Given the description of an element on the screen output the (x, y) to click on. 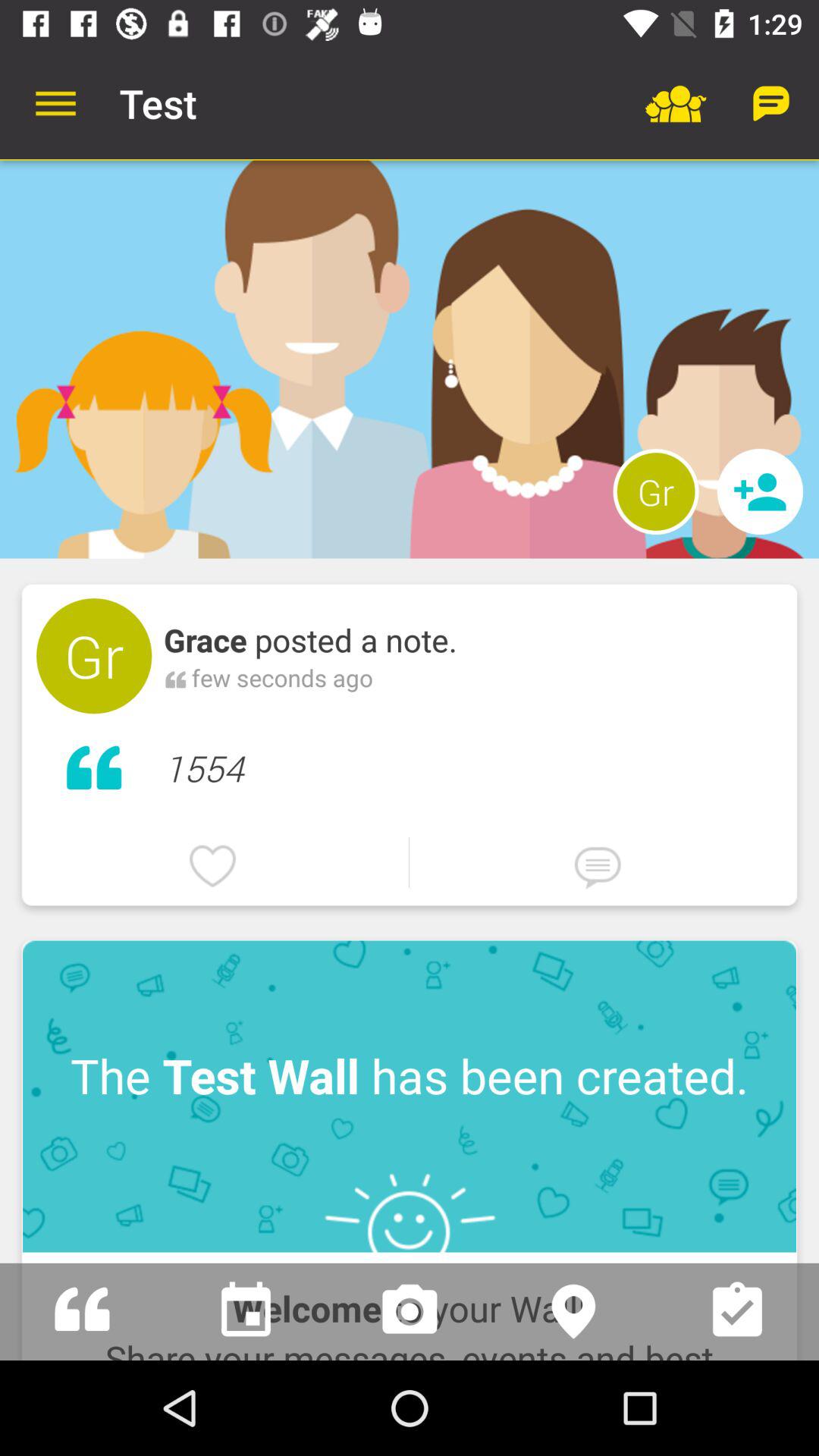
create a post (81, 1311)
